Given the description of an element on the screen output the (x, y) to click on. 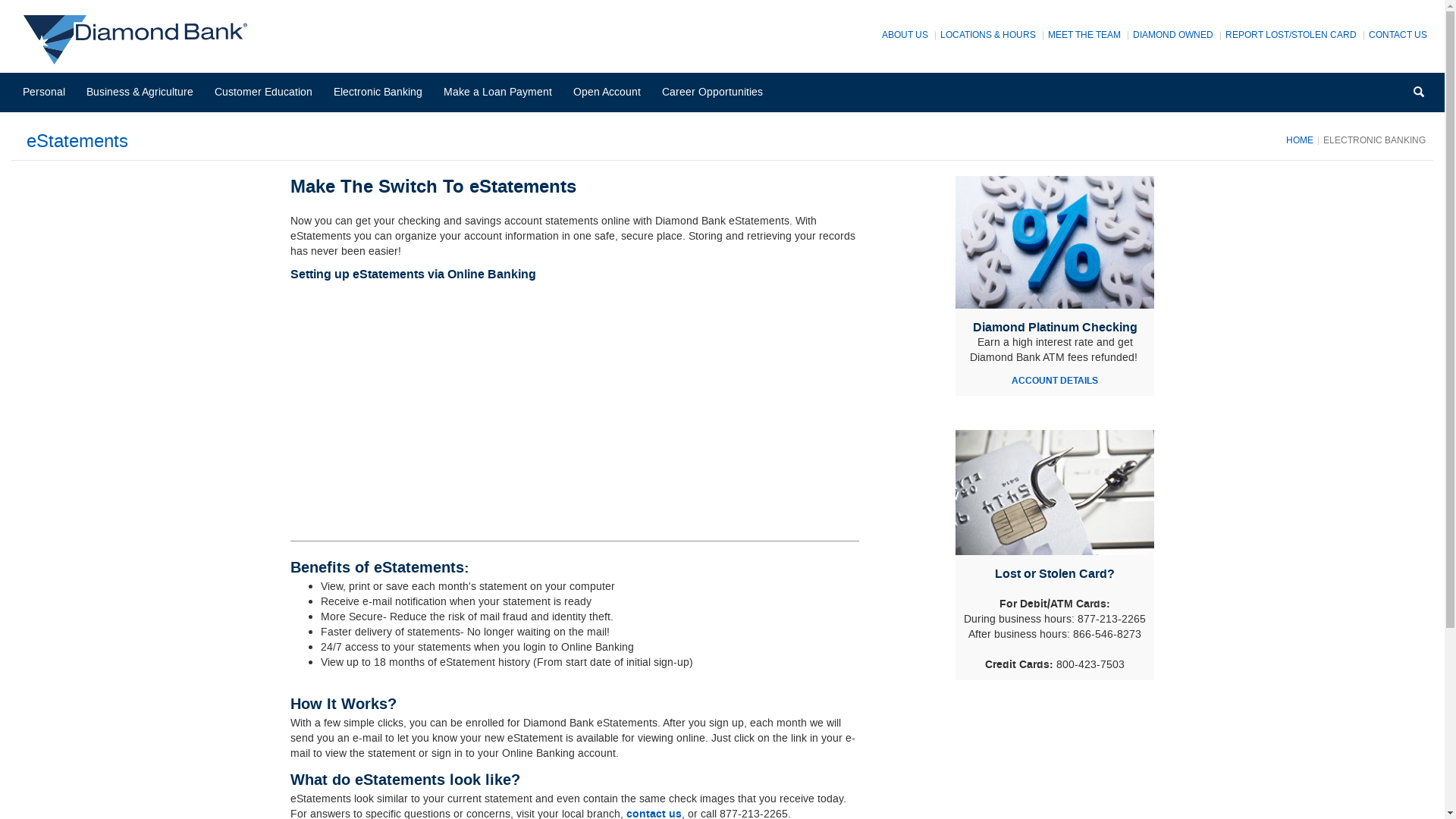
DIAMOND OWNED Element type: text (1172, 34)
MEET THE TEAM Element type: text (1084, 34)
LOCATIONS & HOURS Element type: text (987, 34)
YouTube video player Element type: hover (501, 401)
ABOUT US Element type: text (904, 34)
REPORT LOST/STOLEN CARD Element type: text (1290, 34)
Diamond Bank, Murfreesboro, Arkansas Element type: hover (138, 39)
CONTACT US Element type: text (1397, 34)
Make a Loan Payment Element type: text (502, 92)
Open Account Element type: text (611, 92)
Search Element type: text (1418, 92)
Career Opportunities
(Opens in a new Window) Element type: text (717, 92)
ACCOUNT DETAILS
(OPENS IN A NEW WINDOW) Element type: text (1054, 380)
HOME Element type: text (1299, 140)
